Given the description of an element on the screen output the (x, y) to click on. 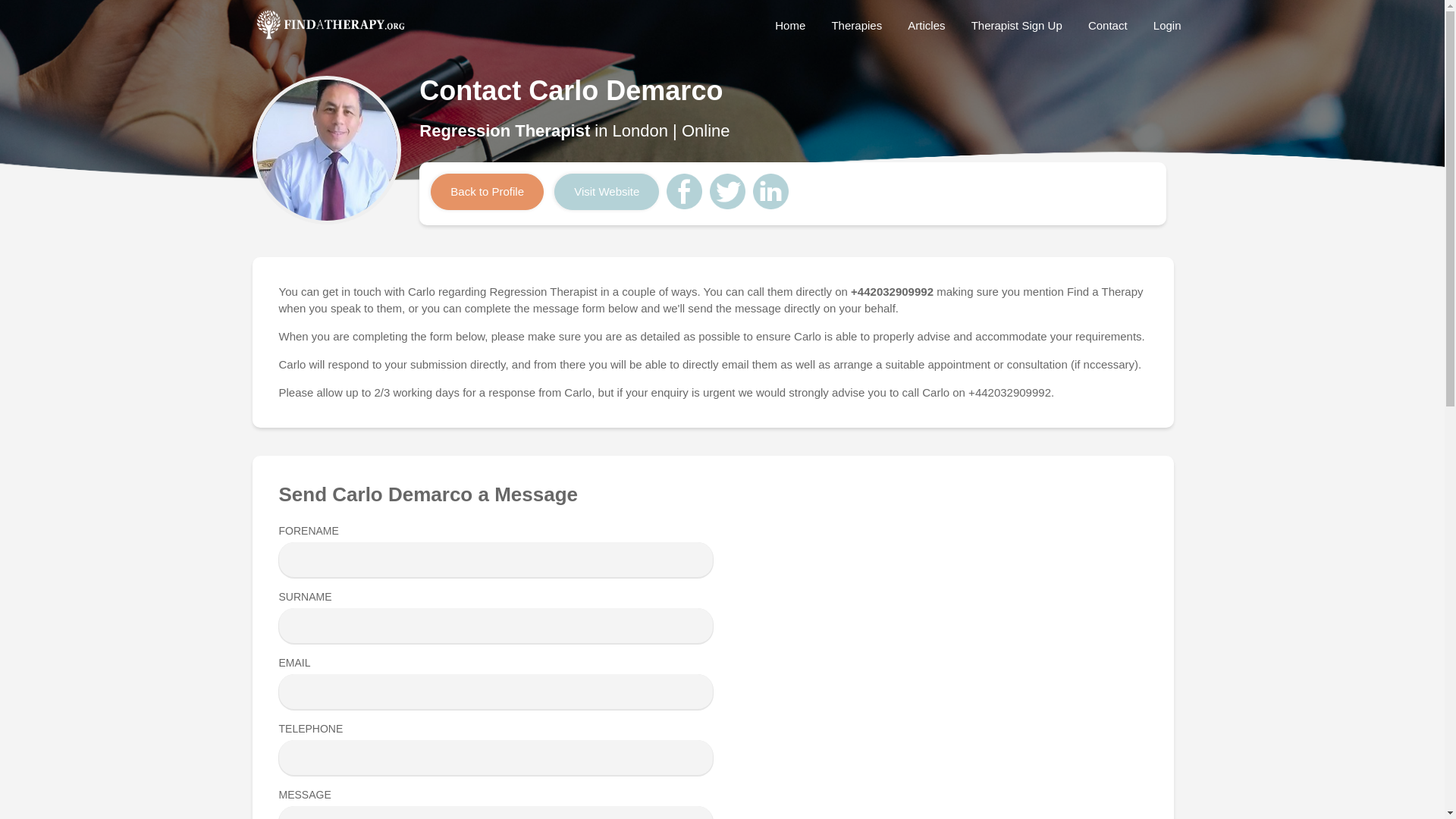
Back to Profile (486, 191)
Therapies (856, 24)
Home (789, 24)
Visit Website (606, 191)
Articles (926, 24)
Therapist Sign Up (1016, 24)
Contact (1107, 24)
